Given the description of an element on the screen output the (x, y) to click on. 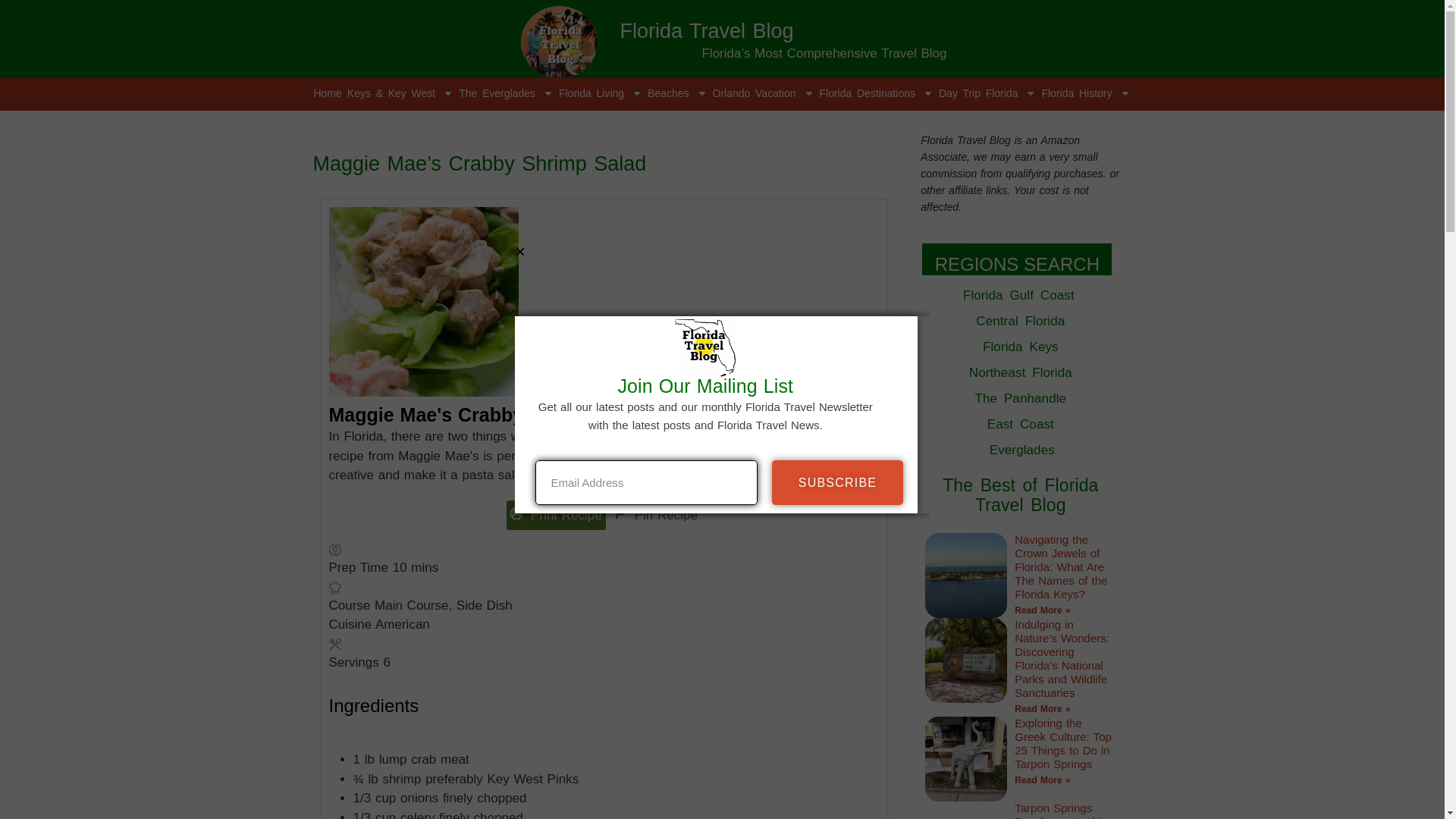
The Everglades (505, 92)
Home (326, 92)
Orlando Vacation (763, 92)
Maggie Mae's Crabby Shrimp Salad 1 (423, 301)
Beaches (676, 92)
Florida Living (600, 92)
